Given the description of an element on the screen output the (x, y) to click on. 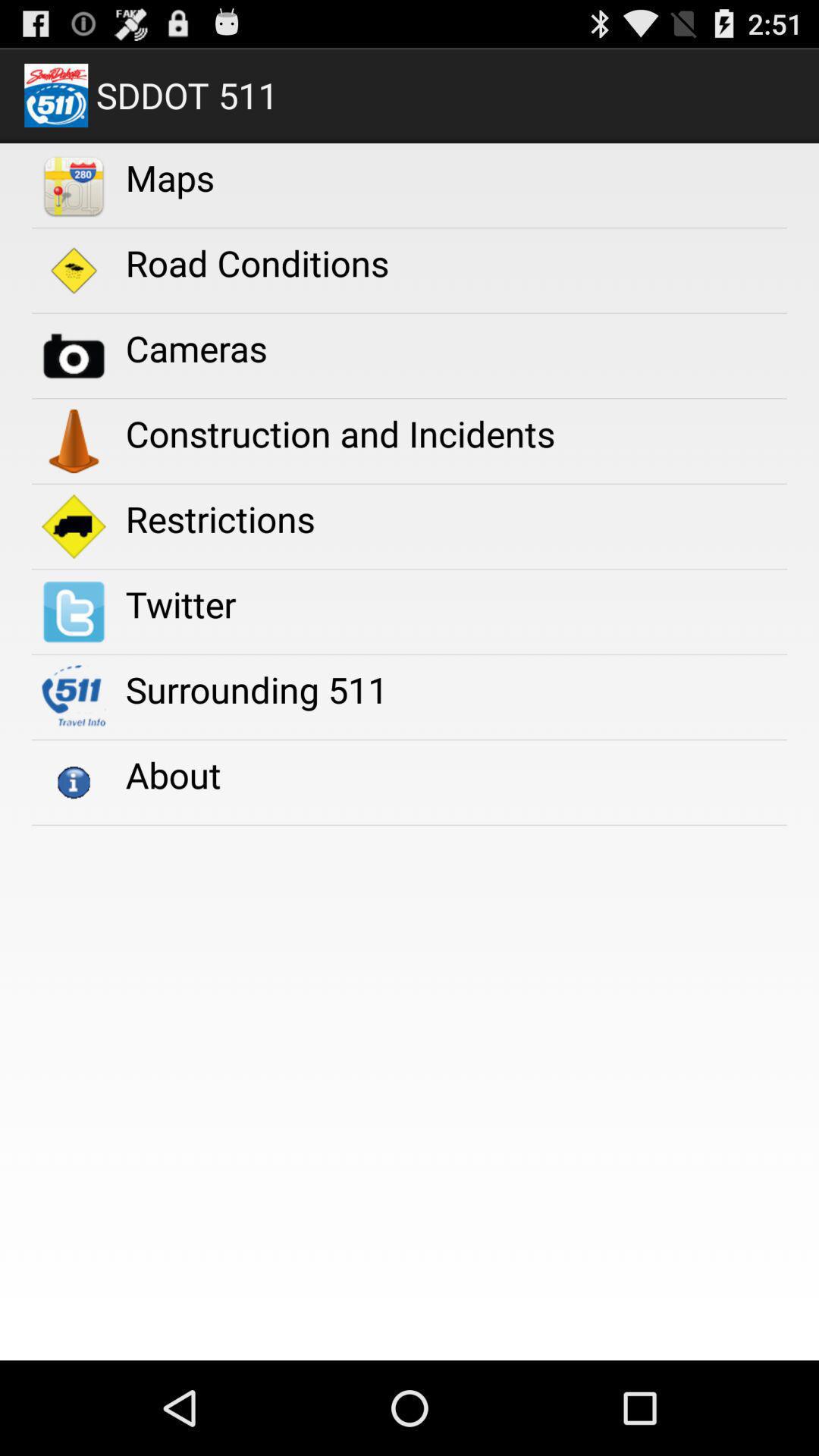
select cameras (196, 348)
